Given the description of an element on the screen output the (x, y) to click on. 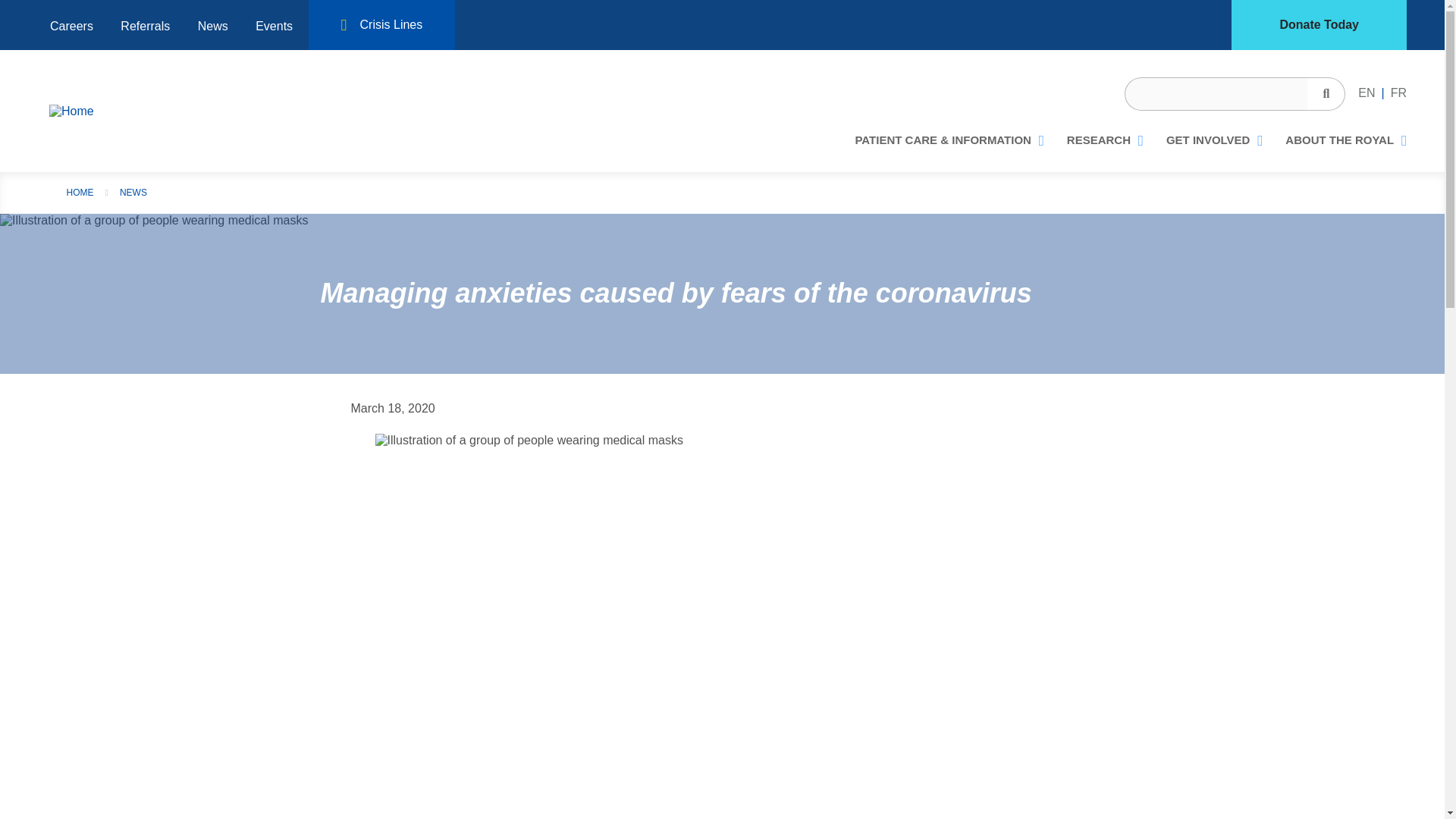
Apply (1326, 93)
News (213, 26)
FR (1398, 92)
Crisis Lines (381, 24)
EN (1366, 92)
Events (273, 26)
Referrals (144, 26)
Careers (70, 26)
